Given the description of an element on the screen output the (x, y) to click on. 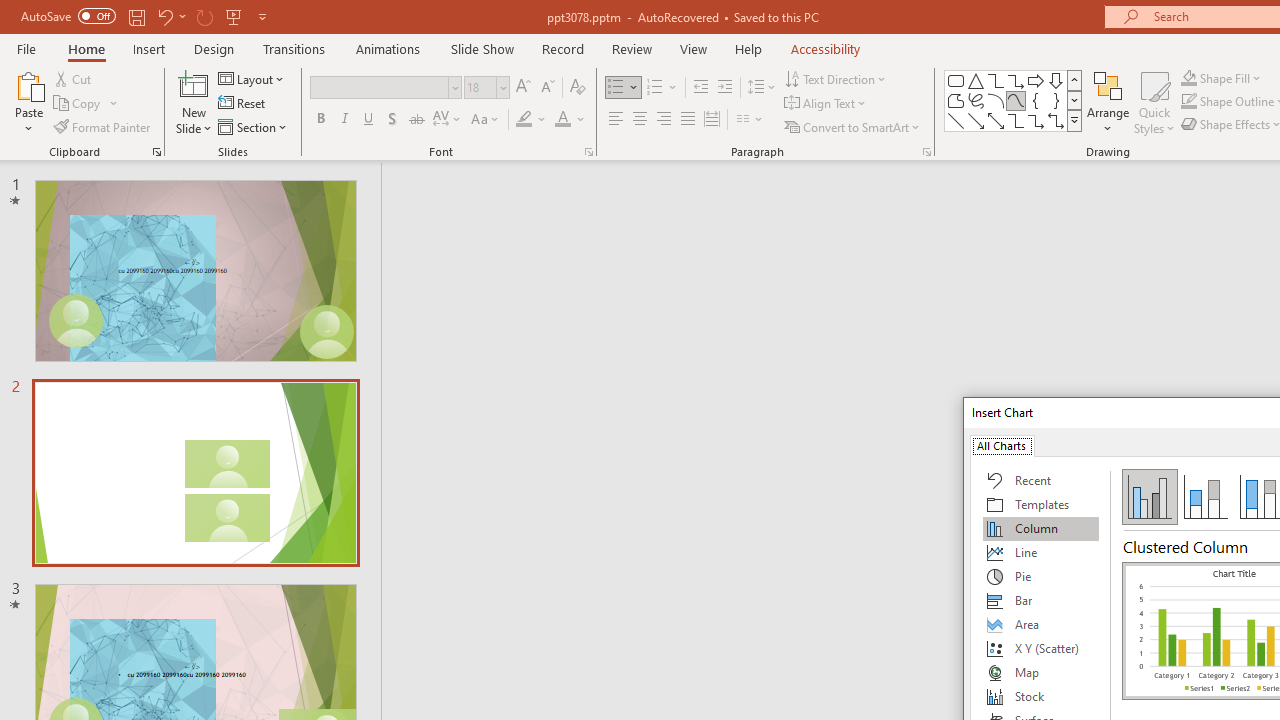
Shape Fill Dark Green, Accent 2 (1188, 78)
X Y (Scatter) (1041, 648)
